Given the description of an element on the screen output the (x, y) to click on. 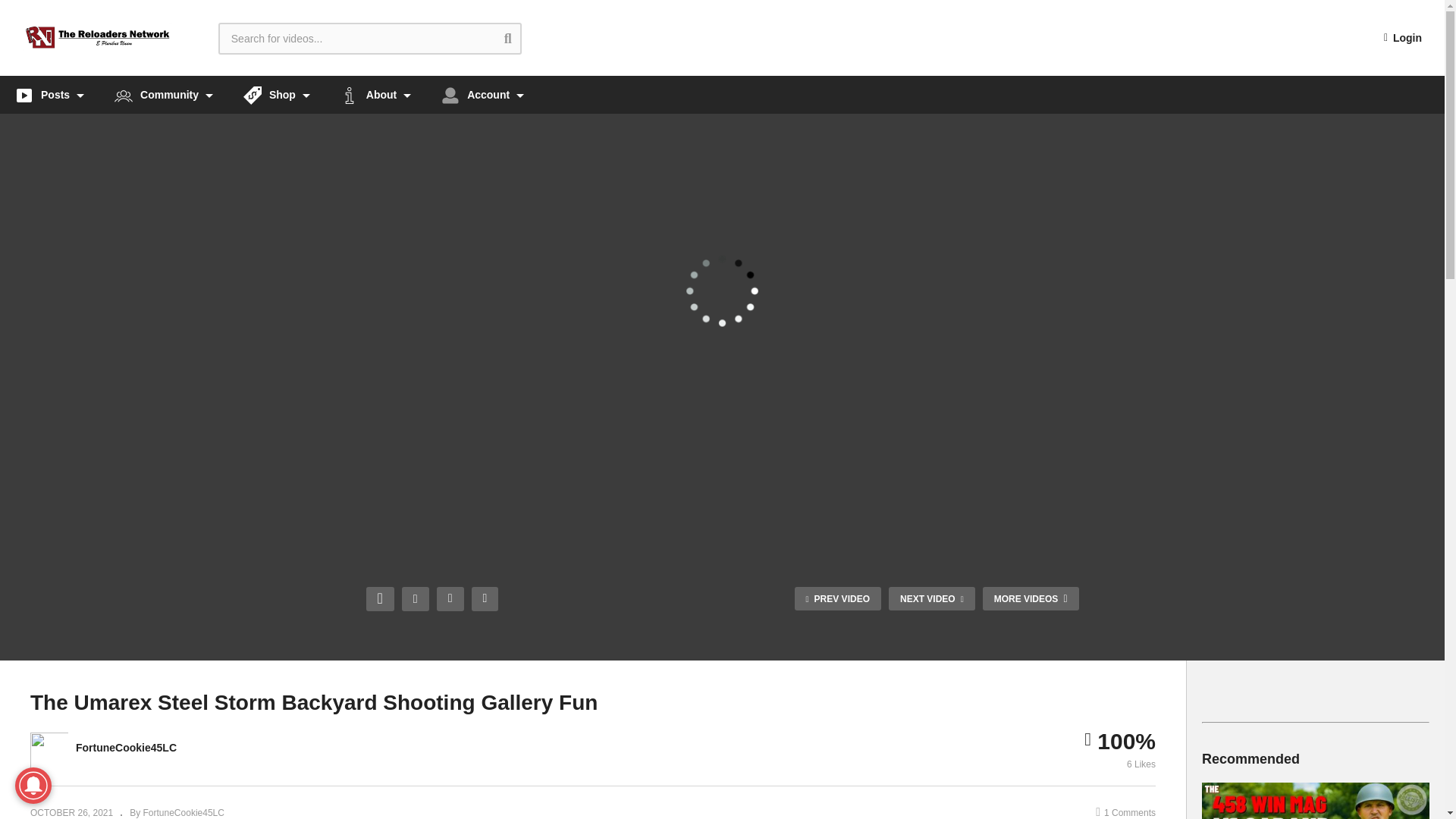
About (375, 94)
SEARCH (519, 37)
 Login (1402, 38)
Posts (49, 94)
SEARCH (519, 37)
Shop (276, 94)
Community (163, 94)
The Reloaders Network (98, 37)
Watch Later (485, 598)
